Given the description of an element on the screen output the (x, y) to click on. 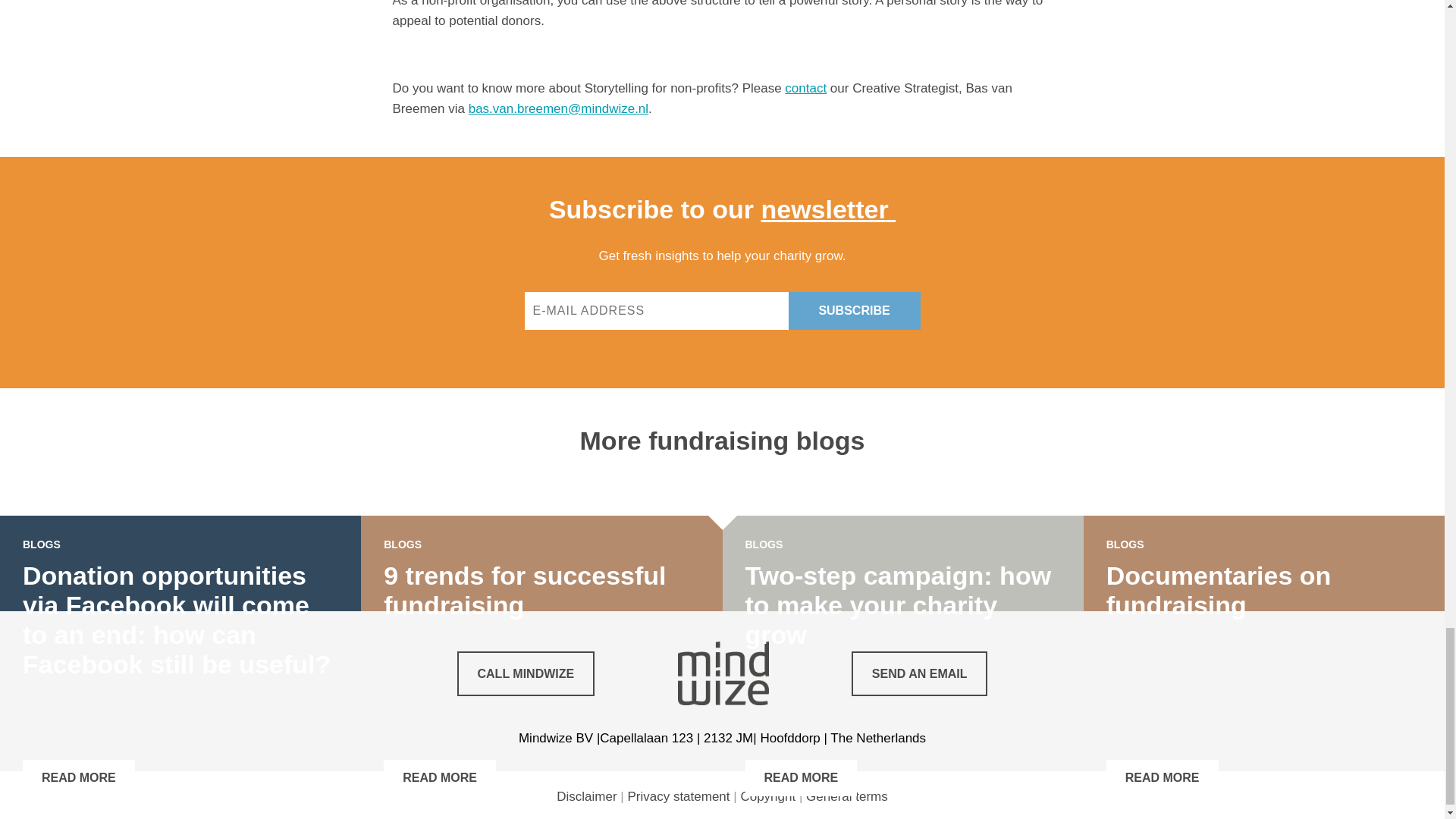
READ MORE (79, 778)
READ MORE (1162, 778)
CALL MINDWIZE (525, 673)
READ MORE (440, 778)
Disclaimer (585, 796)
SUBSCRIBE (854, 310)
contact (805, 88)
SEND AN EMAIL (919, 673)
newsletter  (827, 208)
READ MORE (800, 778)
